Given the description of an element on the screen output the (x, y) to click on. 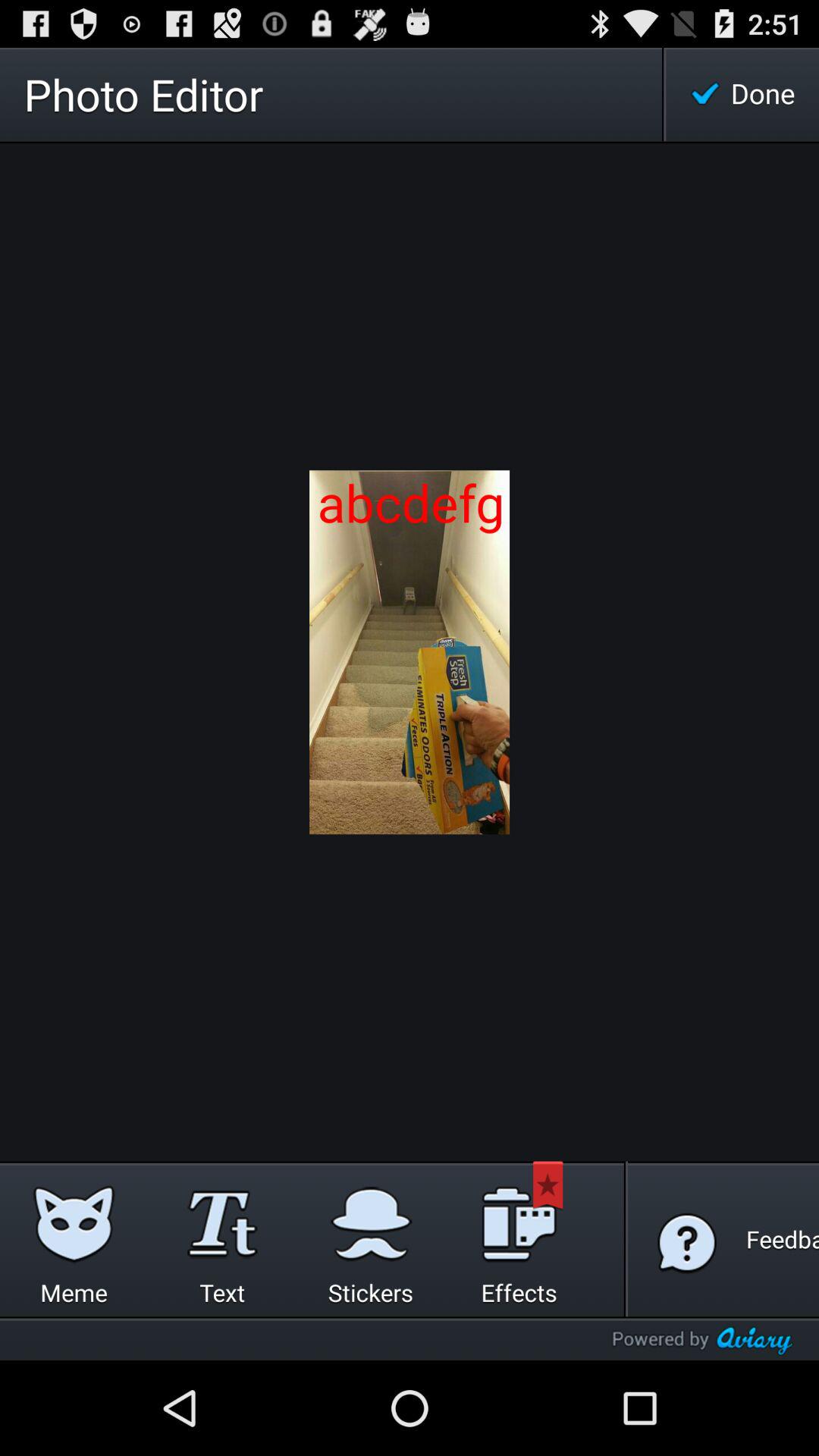
choose done icon (742, 93)
